Given the description of an element on the screen output the (x, y) to click on. 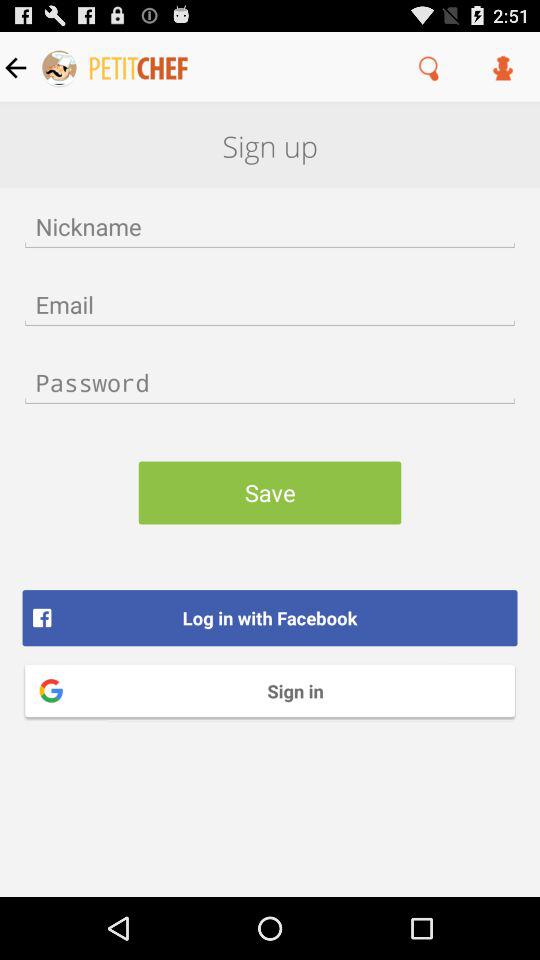
open the item above sign up item (503, 67)
